Given the description of an element on the screen output the (x, y) to click on. 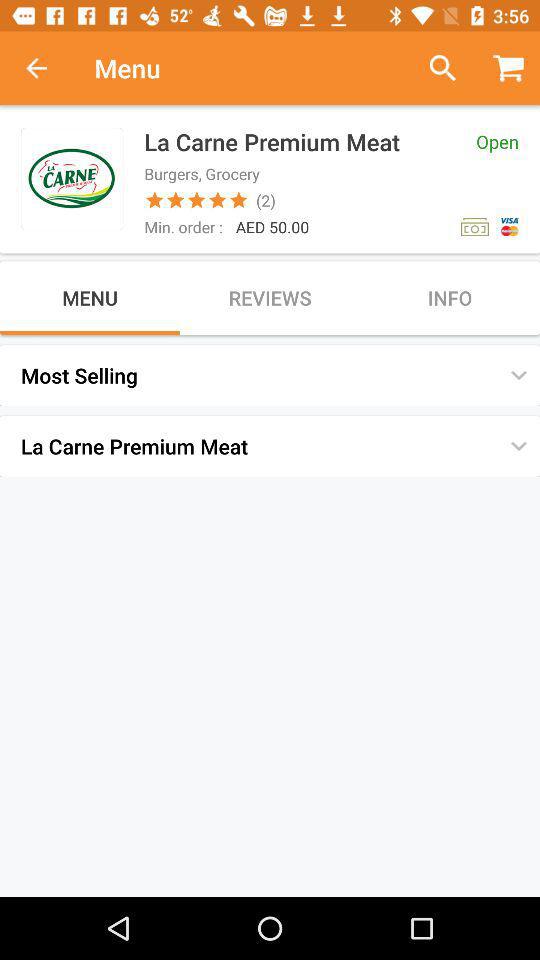
click item to the right of menu icon (434, 68)
